Given the description of an element on the screen output the (x, y) to click on. 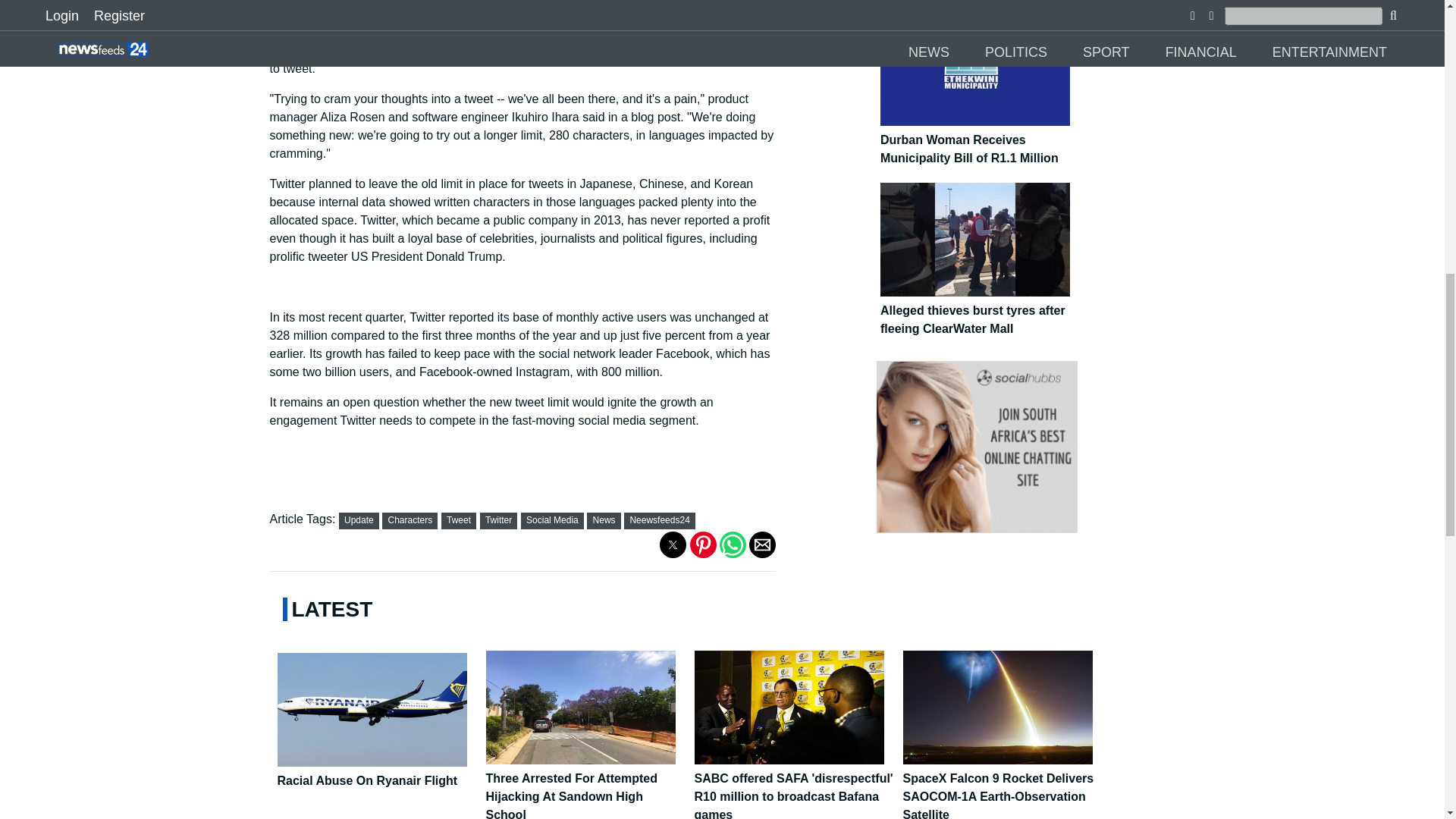
Alleged thieves burst tyres after fleeing ClearWater Mall (980, 311)
Racial Abuse On Ryanair Flight (377, 772)
Update (358, 520)
Twitter (498, 520)
Tweet (458, 520)
Durban Woman Receives Municipality Bill of R1.1 Million (980, 141)
Social Media (551, 520)
Neewsfeeds24 (658, 520)
